Given the description of an element on the screen output the (x, y) to click on. 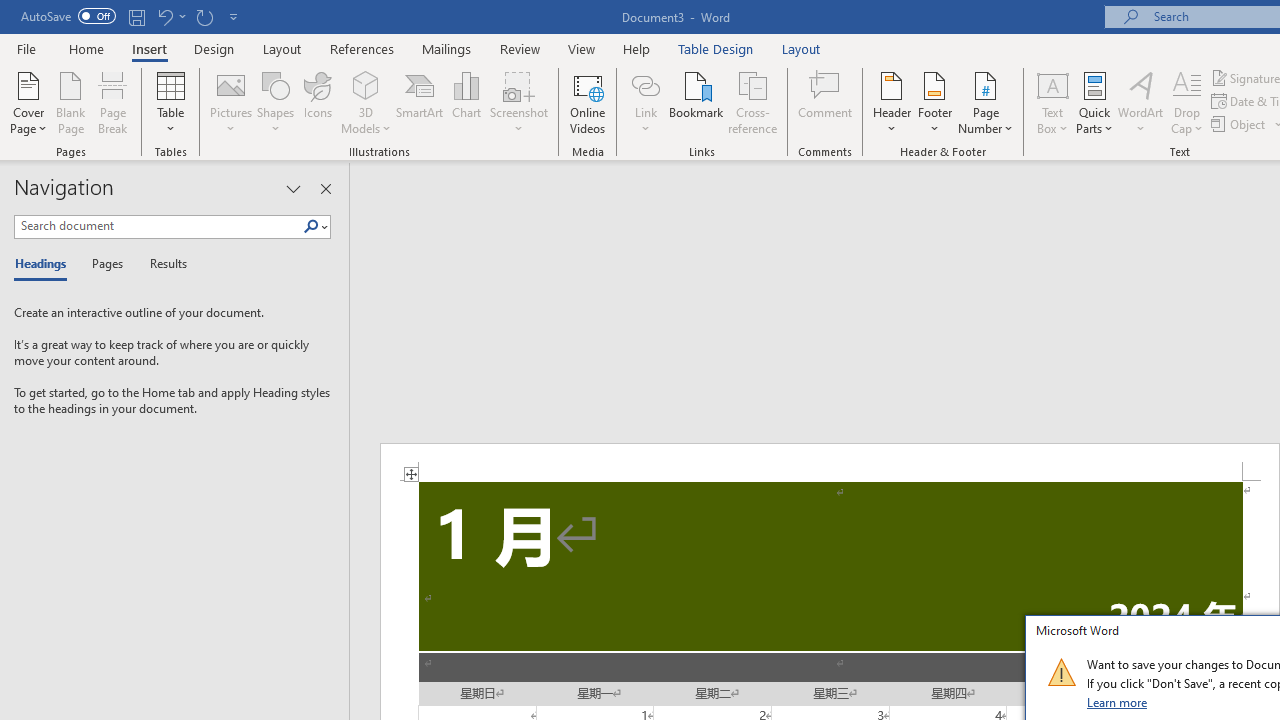
3D Models (366, 84)
Mailings (447, 48)
Object... (1240, 124)
Learn more (1118, 702)
Headings (45, 264)
SmartArt... (419, 102)
Footer (934, 102)
WordArt (1141, 102)
Undo Increase Indent (170, 15)
Save (136, 15)
Chart... (466, 102)
Cover Page (28, 102)
Pages (105, 264)
Shapes (275, 102)
